Given the description of an element on the screen output the (x, y) to click on. 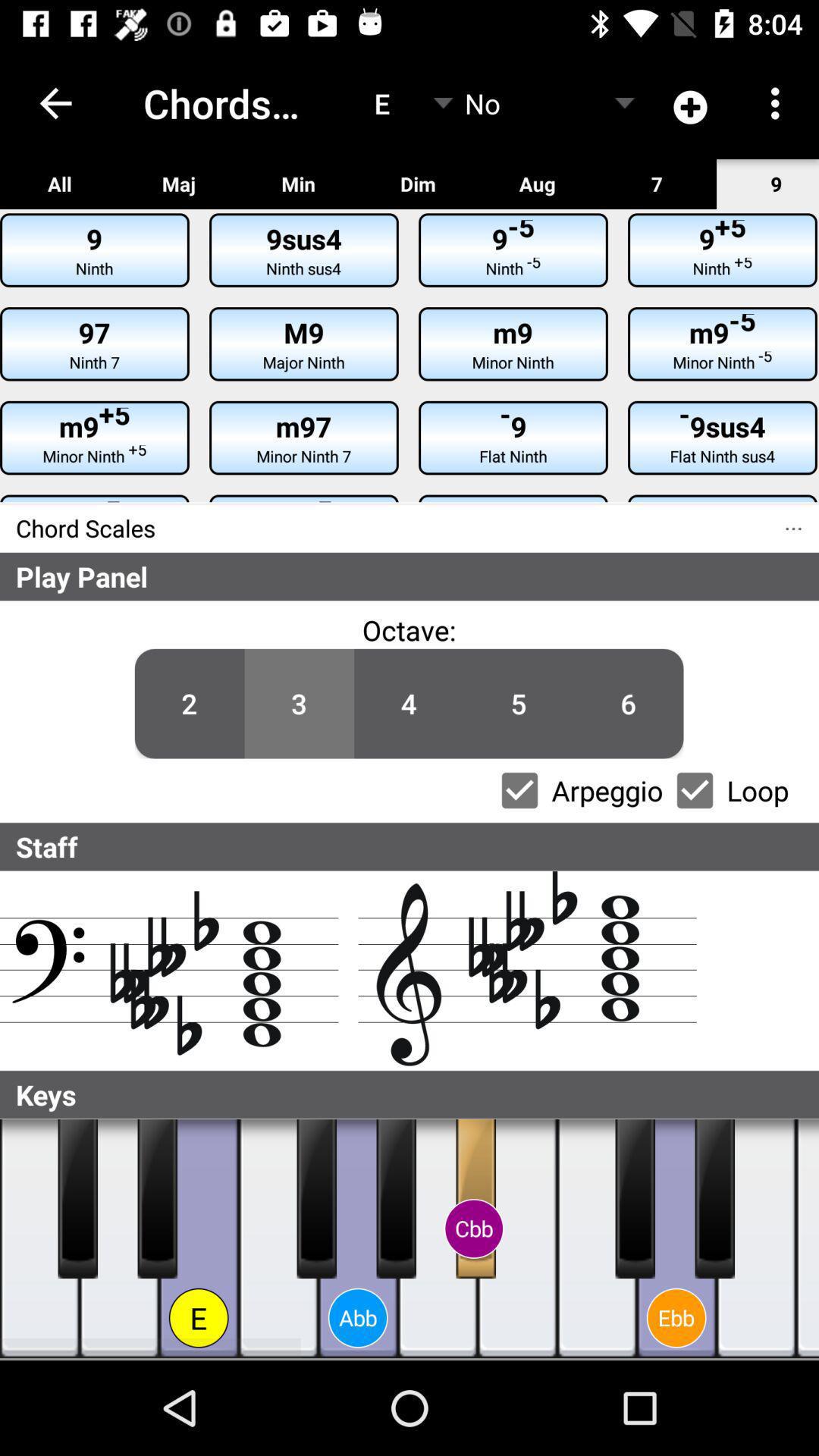
turn on 3 (299, 703)
